Given the description of an element on the screen output the (x, y) to click on. 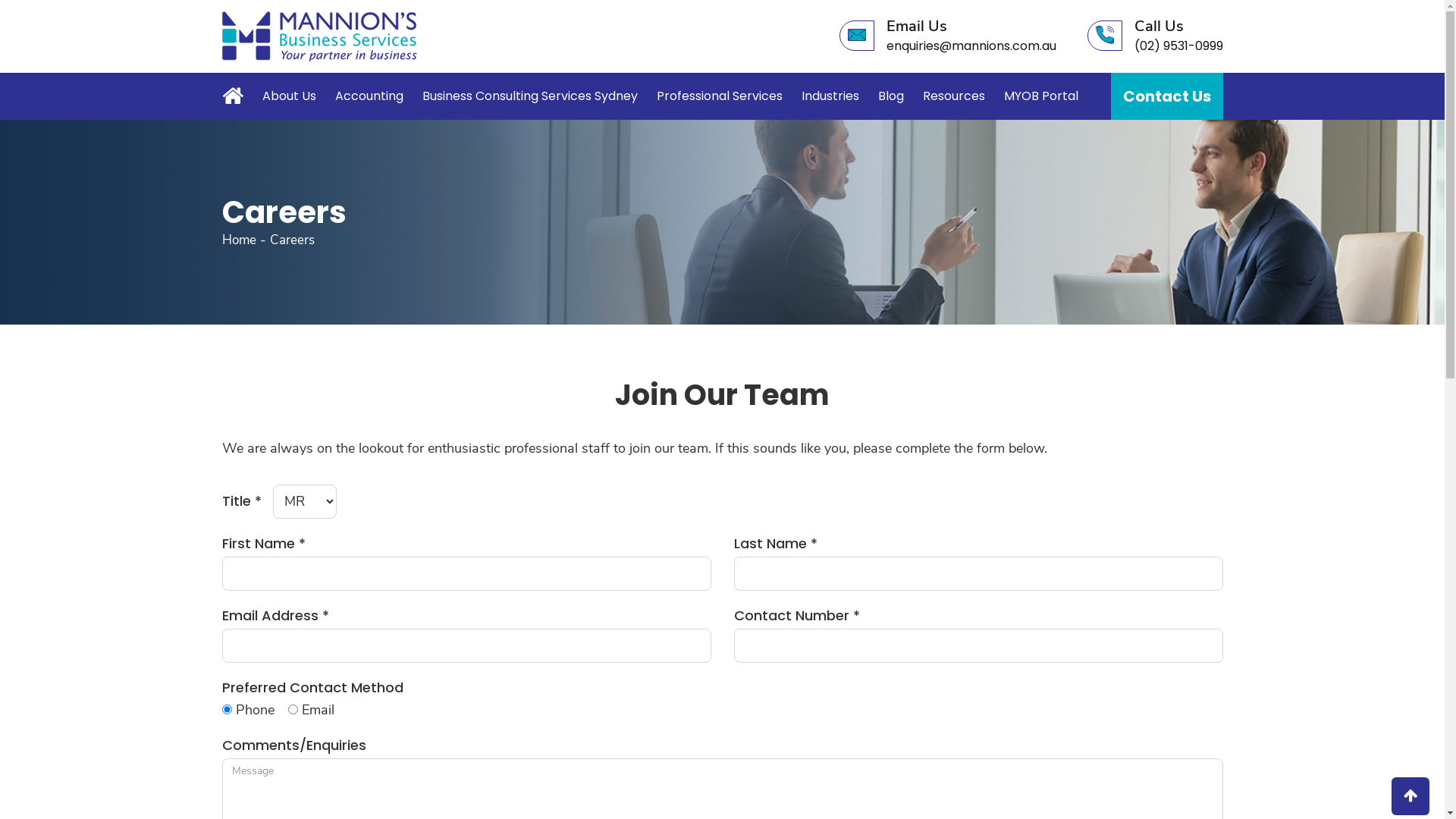
Call Us
(02) 9531-0999 Element type: text (1155, 35)
Contact Us Element type: text (1166, 95)
Home Element type: text (238, 239)
About Us Element type: text (288, 95)
Resources Element type: text (952, 95)
Business Consulting Services Sydney Element type: text (529, 95)
Accounting Element type: text (369, 95)
MYOB Portal Element type: text (1040, 95)
Industries Element type: text (829, 95)
Home Element type: text (235, 93)
Skip to content Element type: text (0, 0)
Professional Services Element type: text (719, 95)
Email Us
enquiries@mannions.com.au Element type: text (946, 35)
Blog Element type: text (890, 95)
